Given the description of an element on the screen output the (x, y) to click on. 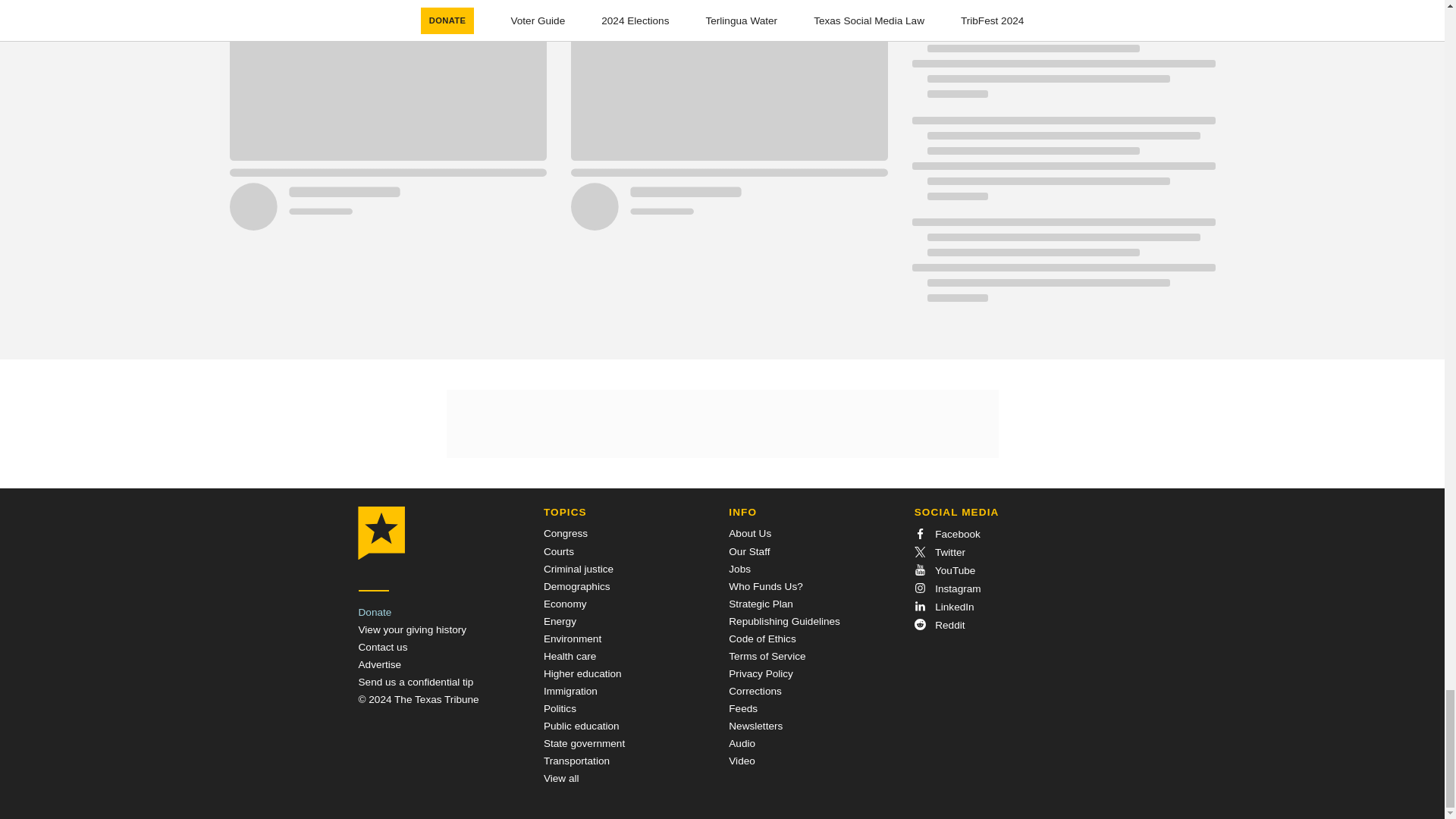
Loading indicator (1062, 166)
Who Funds Us? (765, 586)
Terms of Service (767, 655)
Audio (742, 743)
Facebook (946, 533)
Code of Ethics (761, 638)
Feeds (743, 708)
Donate (374, 612)
Corrections (755, 690)
Video (742, 760)
